Given the description of an element on the screen output the (x, y) to click on. 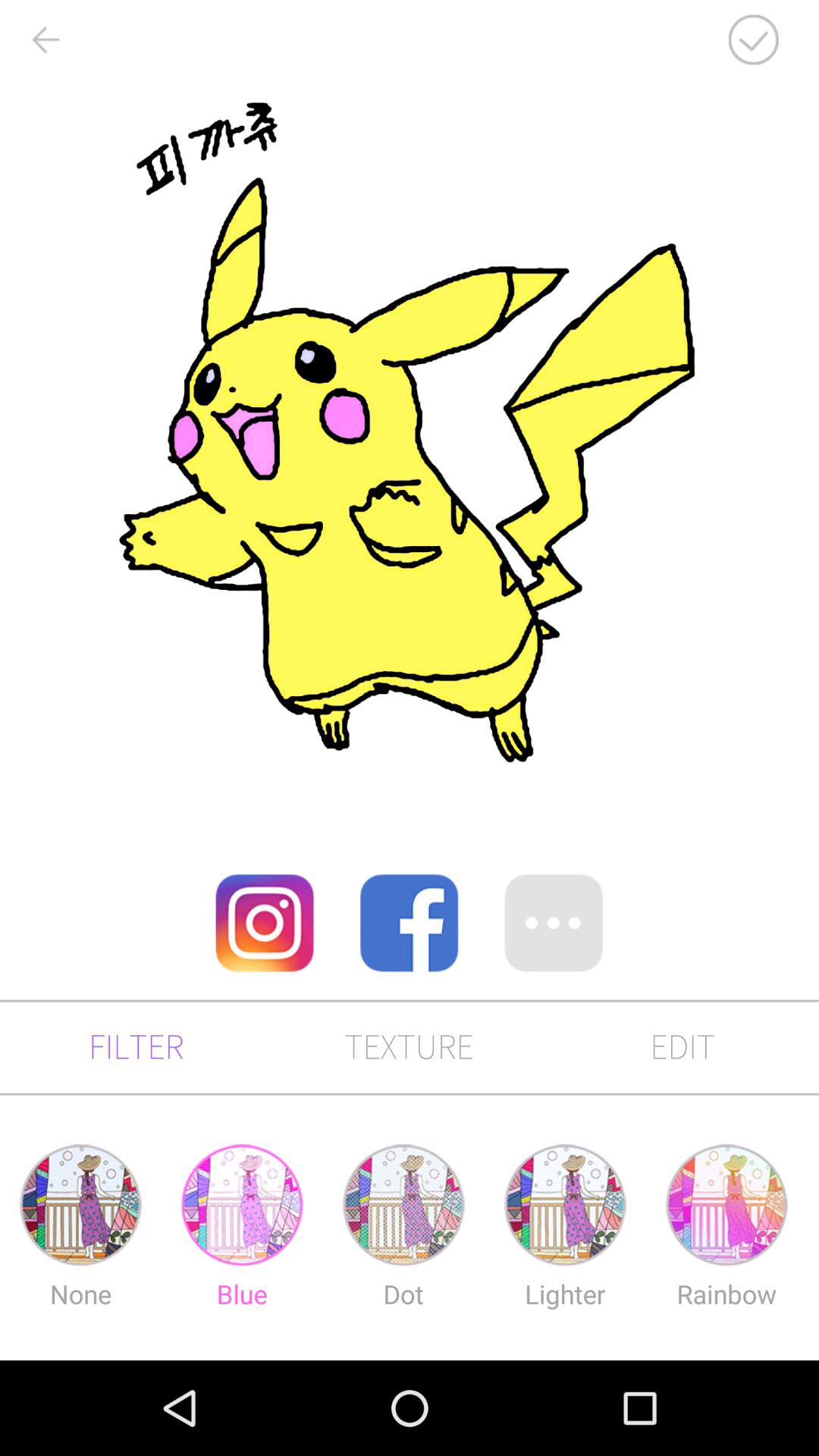
open the icon at the center (409, 922)
